Given the description of an element on the screen output the (x, y) to click on. 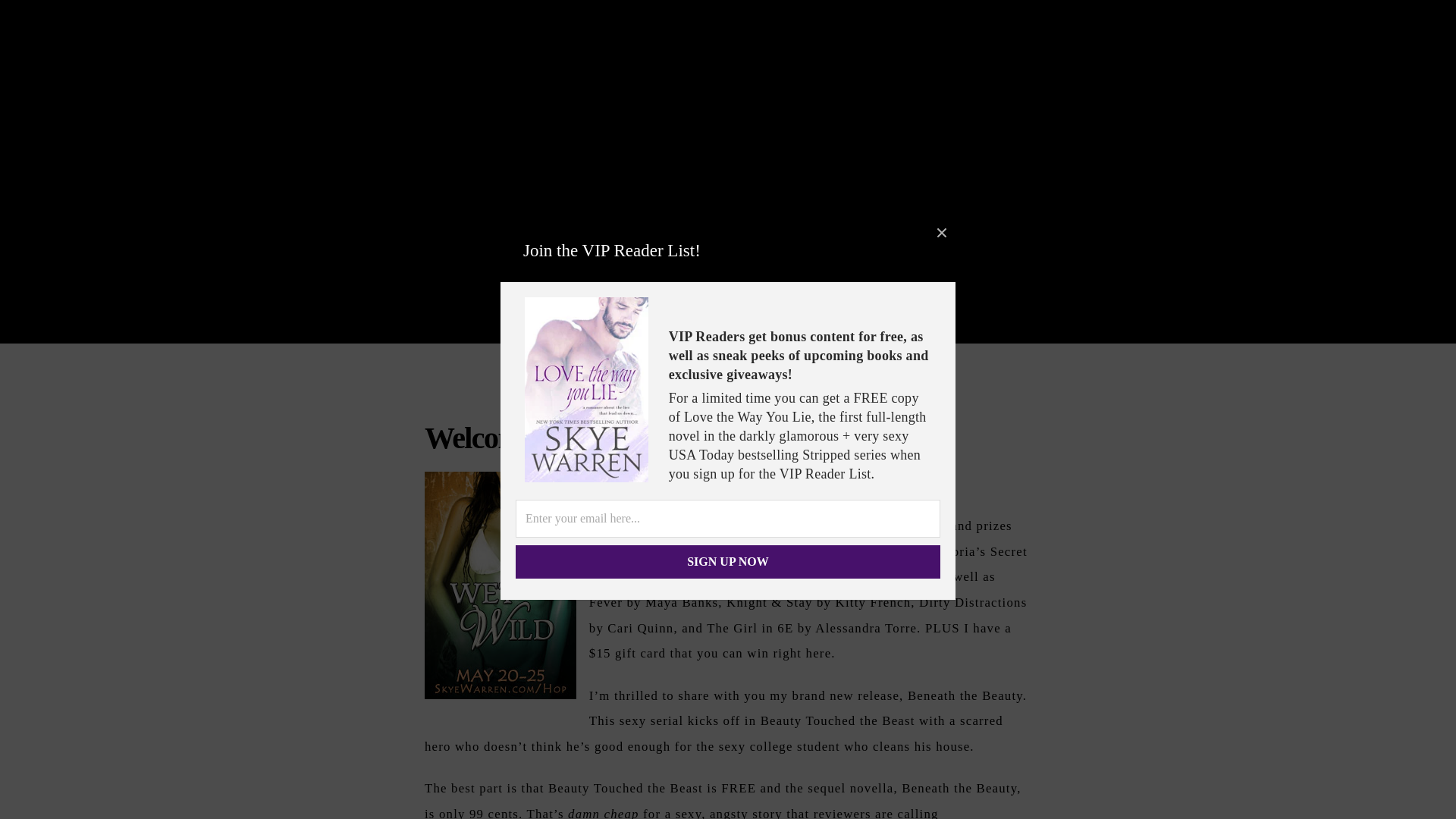
Close (941, 232)
HOME (548, 324)
SIGN UP NOW (727, 561)
SIGN UP NOW (727, 561)
NEWS (865, 324)
SHOP (908, 324)
Skye Warren (727, 193)
TRANSLATIONS (759, 324)
AUDIOBOOKS (667, 324)
BOOKS (597, 324)
